Given the description of an element on the screen output the (x, y) to click on. 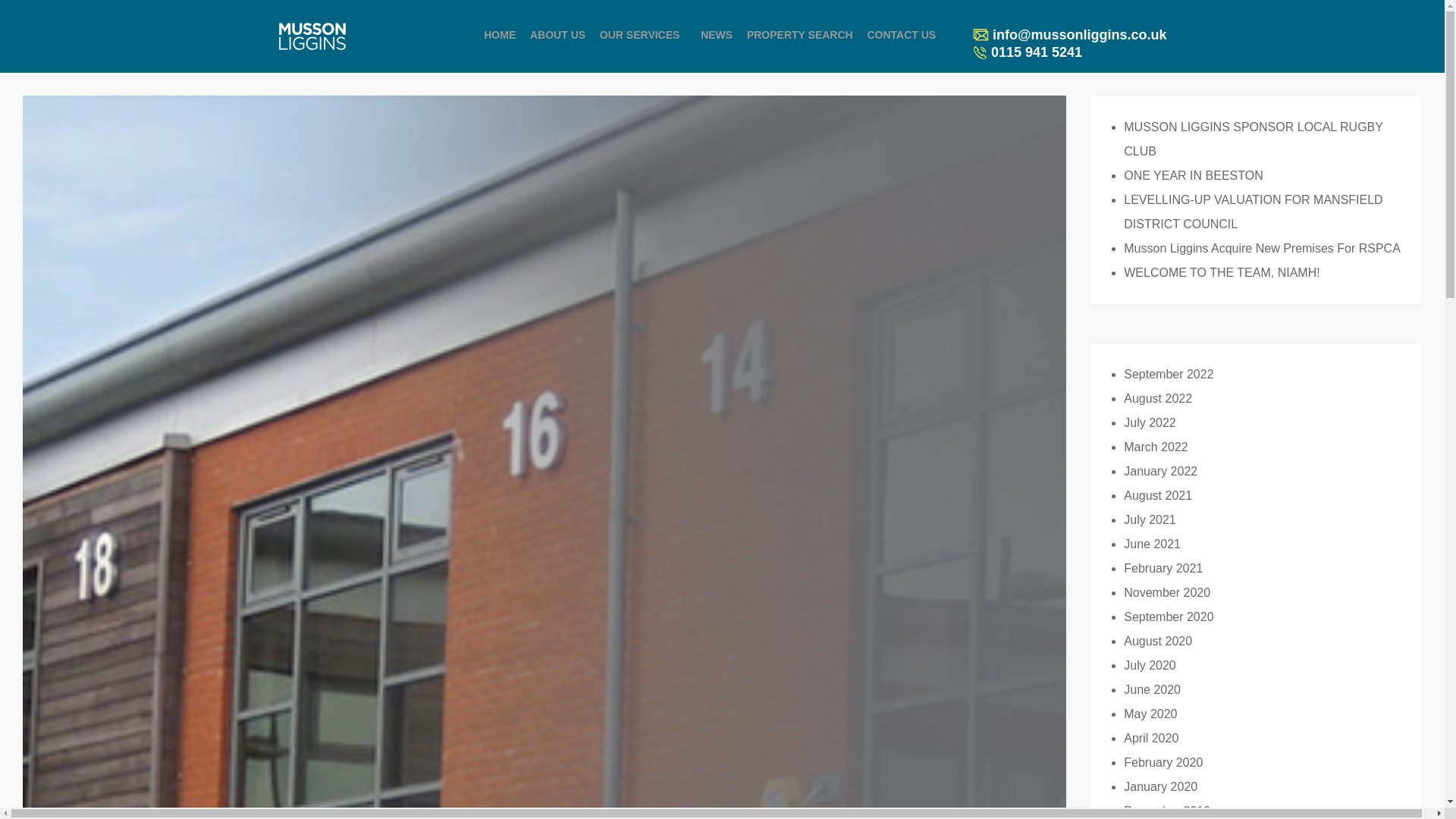
WELCOME TO THE TEAM, NIAMH! (1221, 272)
August 2021 (1158, 495)
June 2021 (1152, 543)
September 2022 (1168, 373)
September 2020 (1168, 616)
April 2020 (1150, 738)
July 2021 (1150, 519)
NEWS (716, 36)
CONTACT US (901, 36)
MUSSON LIGGINS SPONSOR LOCAL RUGBY CLUB (1252, 139)
March 2022 (1156, 446)
January 2022 (1160, 471)
LEVELLING-UP VALUATION FOR MANSFIELD DISTRICT COUNCIL (1252, 211)
HOME (499, 36)
May 2020 (1150, 713)
